Given the description of an element on the screen output the (x, y) to click on. 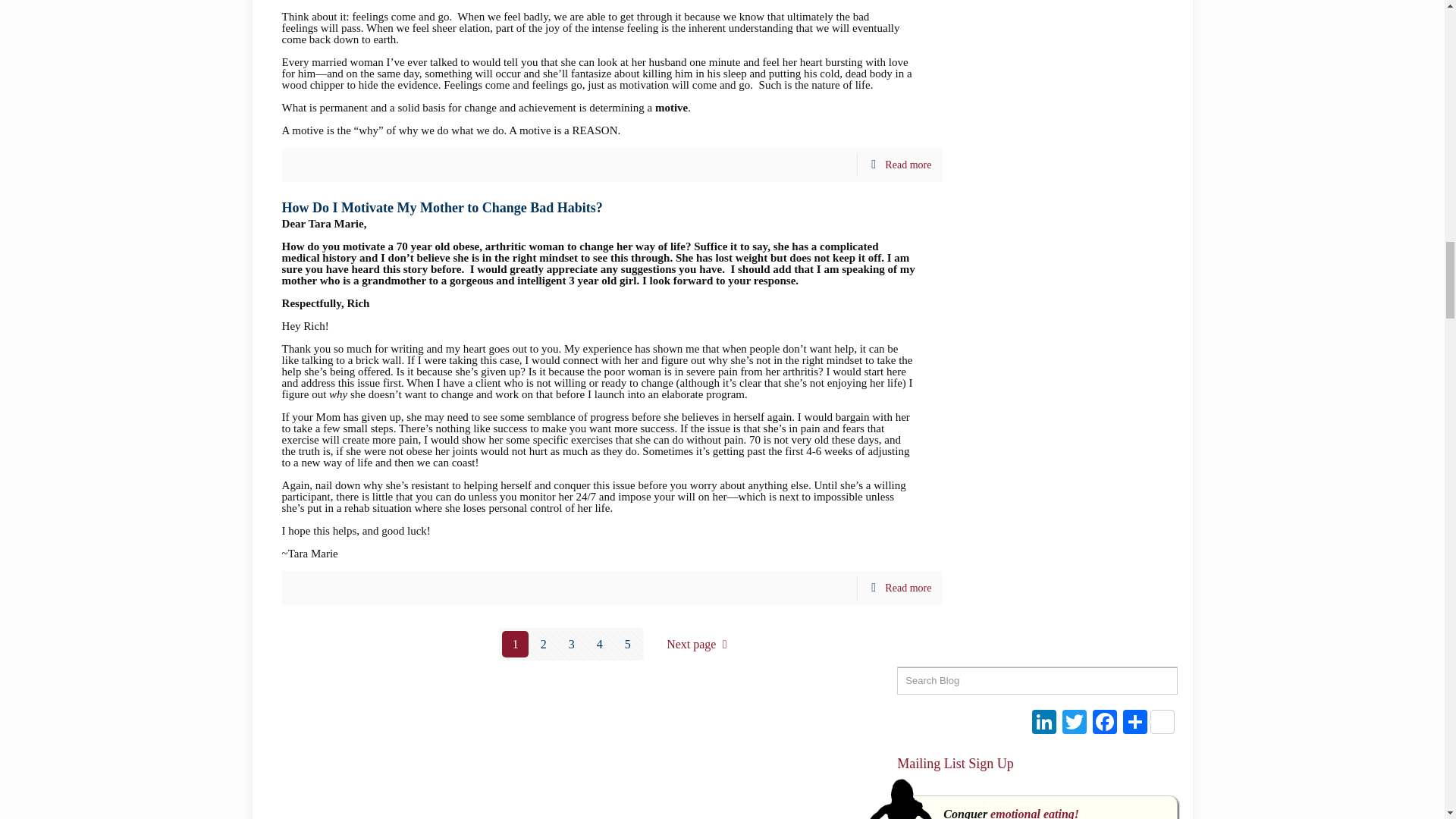
Twitter (1073, 723)
Facebook (1104, 723)
LinkedIn (1042, 723)
